Given the description of an element on the screen output the (x, y) to click on. 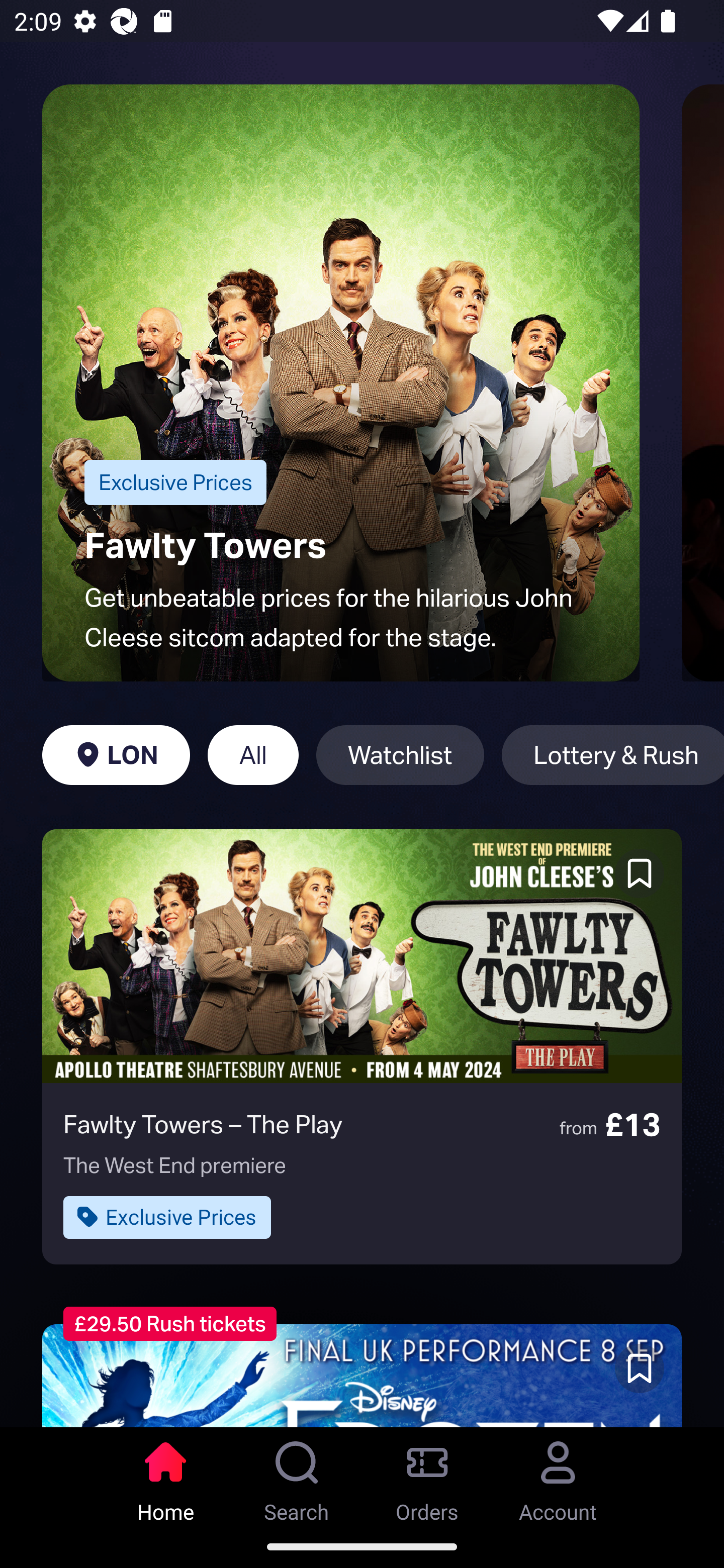
LON (115, 754)
All (252, 754)
Watchlist (400, 754)
Lottery & Rush (612, 754)
Search (296, 1475)
Orders (427, 1475)
Account (558, 1475)
